Given the description of an element on the screen output the (x, y) to click on. 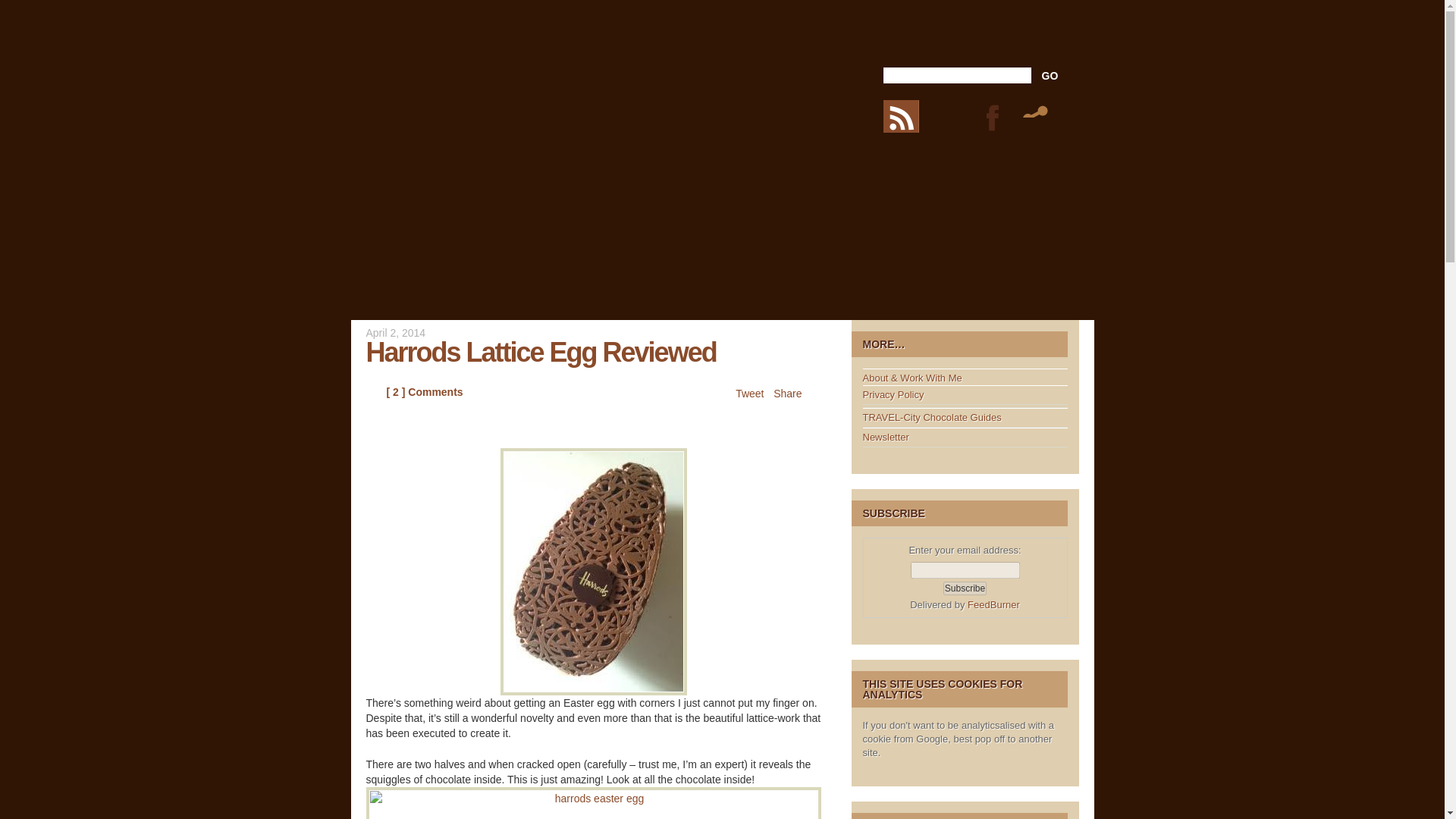
FeedBurner (994, 604)
RSS (909, 115)
Subscribe (965, 588)
Share (1038, 115)
Newsletter (885, 437)
Mostly About Chocolate Blog (525, 67)
TRAVEL-City Chocolate Guides (932, 417)
GO (1049, 76)
Twitter (960, 115)
Share (787, 393)
